Given the description of an element on the screen output the (x, y) to click on. 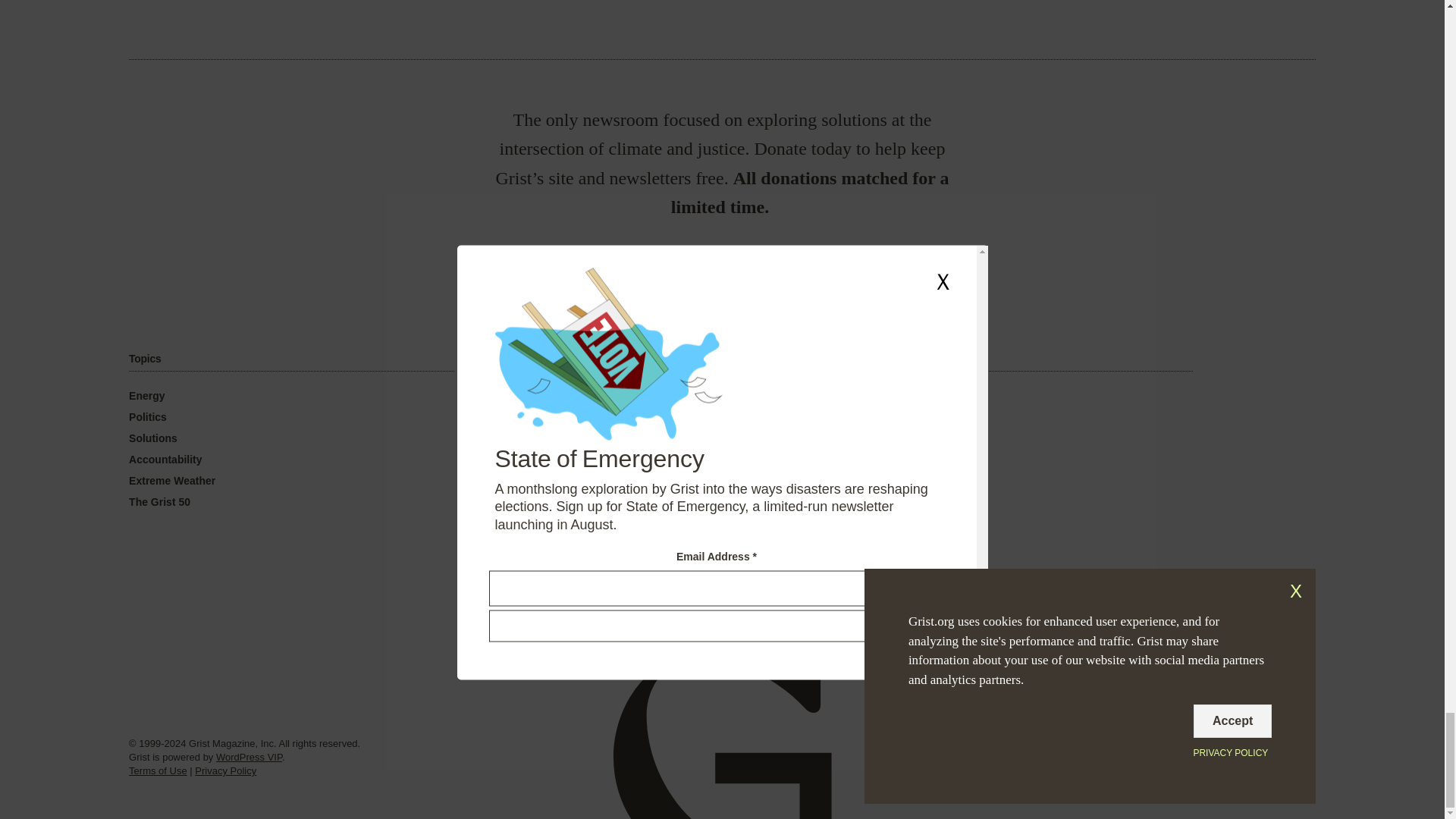
Topics (144, 358)
Company (520, 358)
More (879, 358)
